Given the description of an element on the screen output the (x, y) to click on. 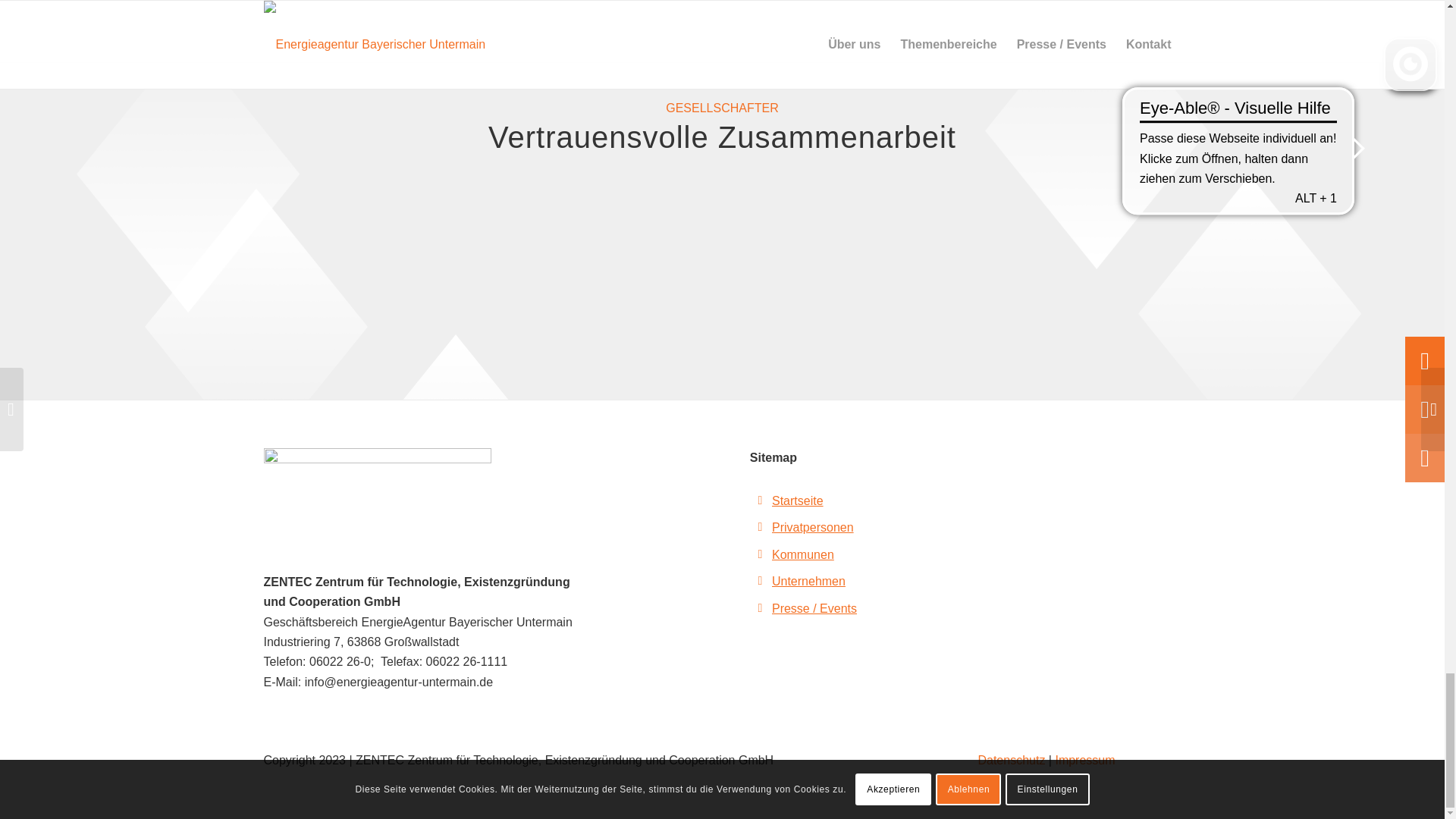
Startseite  (797, 500)
Kommunen (802, 554)
Unternehmen (808, 581)
Privatpersonen (812, 526)
